Given the description of an element on the screen output the (x, y) to click on. 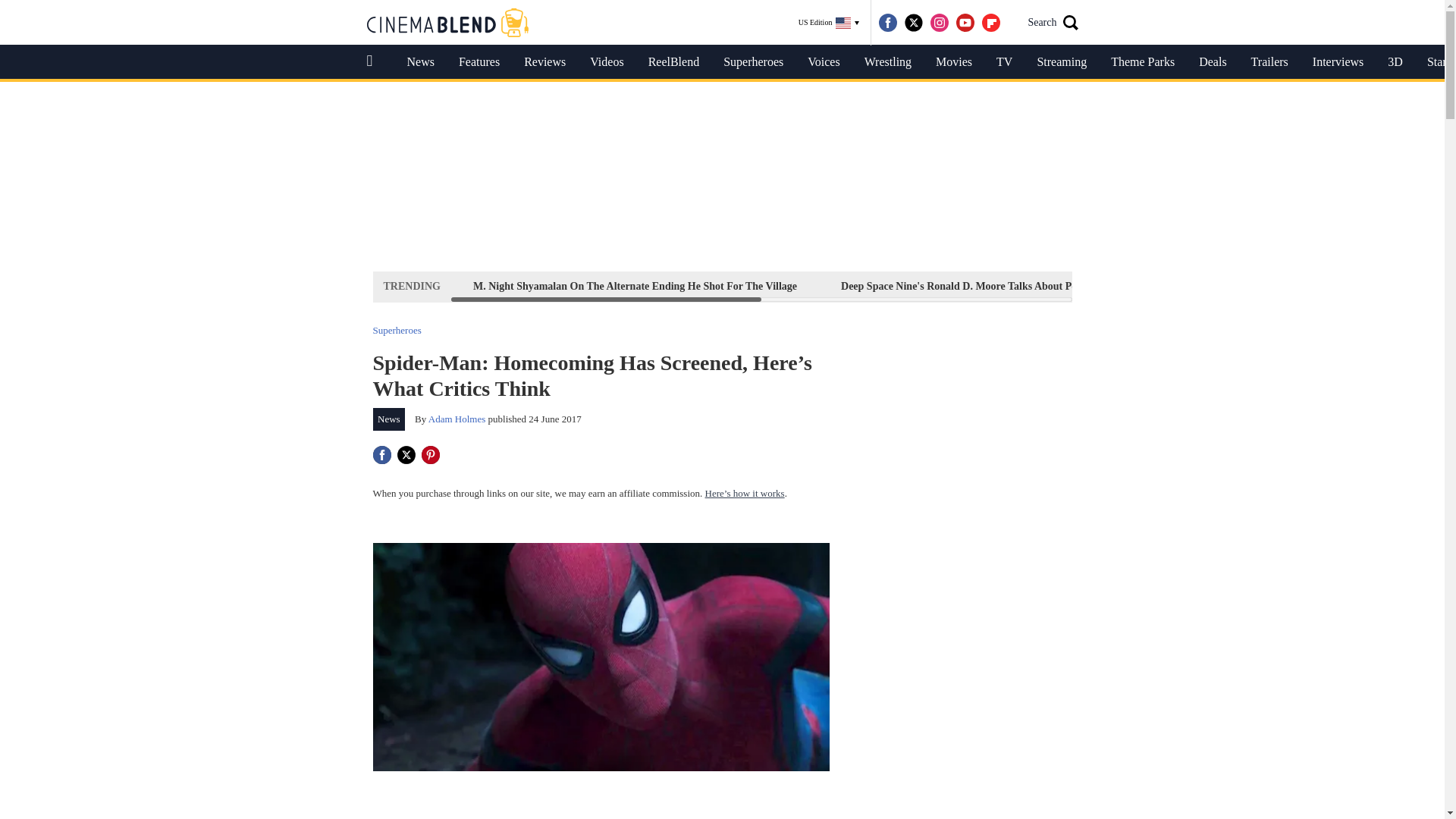
Streaming (1062, 61)
ReelBlend (673, 61)
Voices (822, 61)
Trailers (1269, 61)
Wrestling (887, 61)
Superheroes (752, 61)
TV (1004, 61)
Deals (1212, 61)
Features (479, 61)
